Given the description of an element on the screen output the (x, y) to click on. 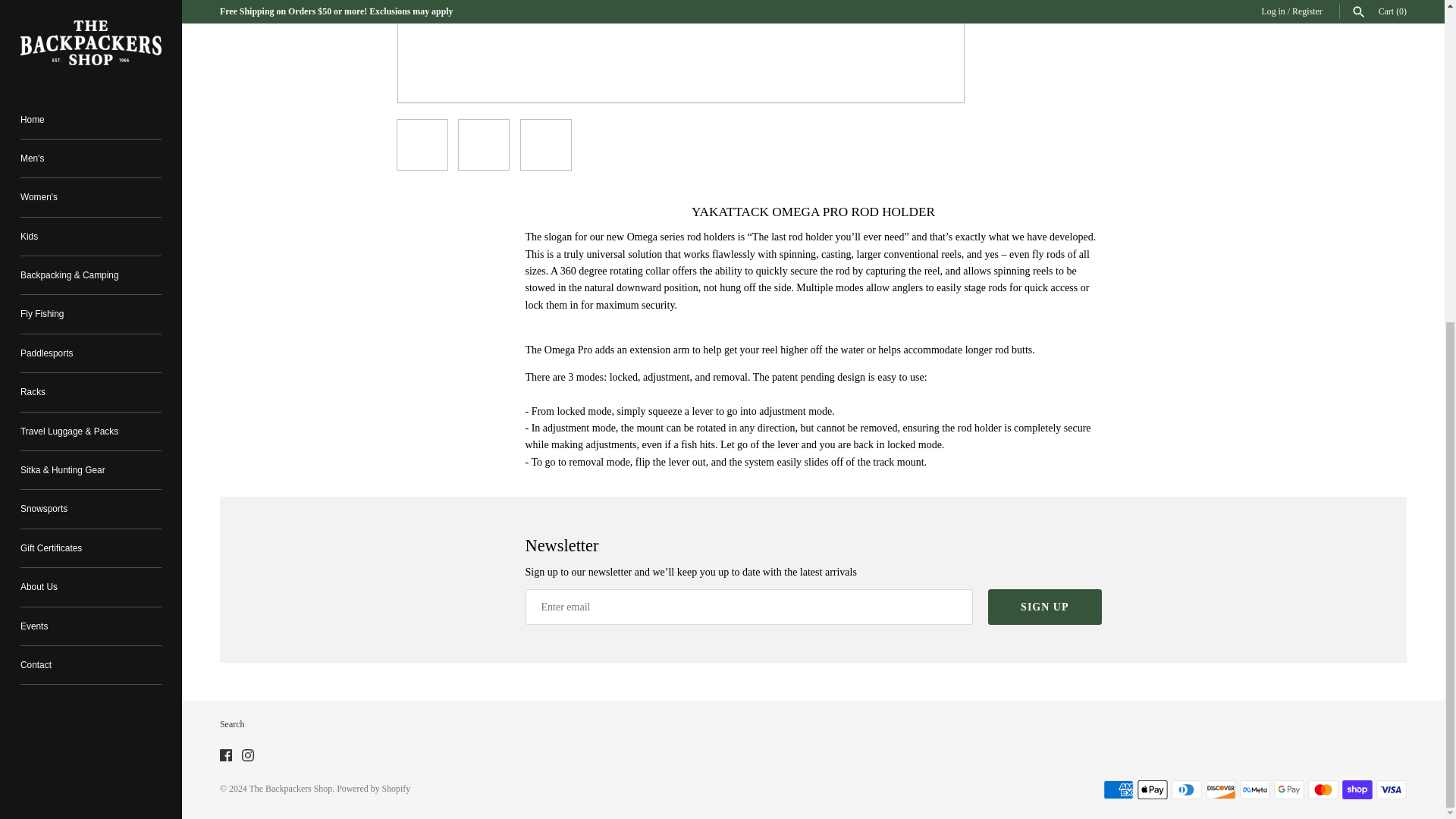
Visa (1390, 789)
Instagram (247, 755)
Diners Club (1187, 789)
Google Pay (1289, 789)
Mastercard (1322, 789)
Meta Pay (1254, 789)
Discover (1220, 789)
Facebook (225, 755)
American Express (1118, 789)
Shop Pay (1357, 789)
Apple Pay (1152, 789)
